Given the description of an element on the screen output the (x, y) to click on. 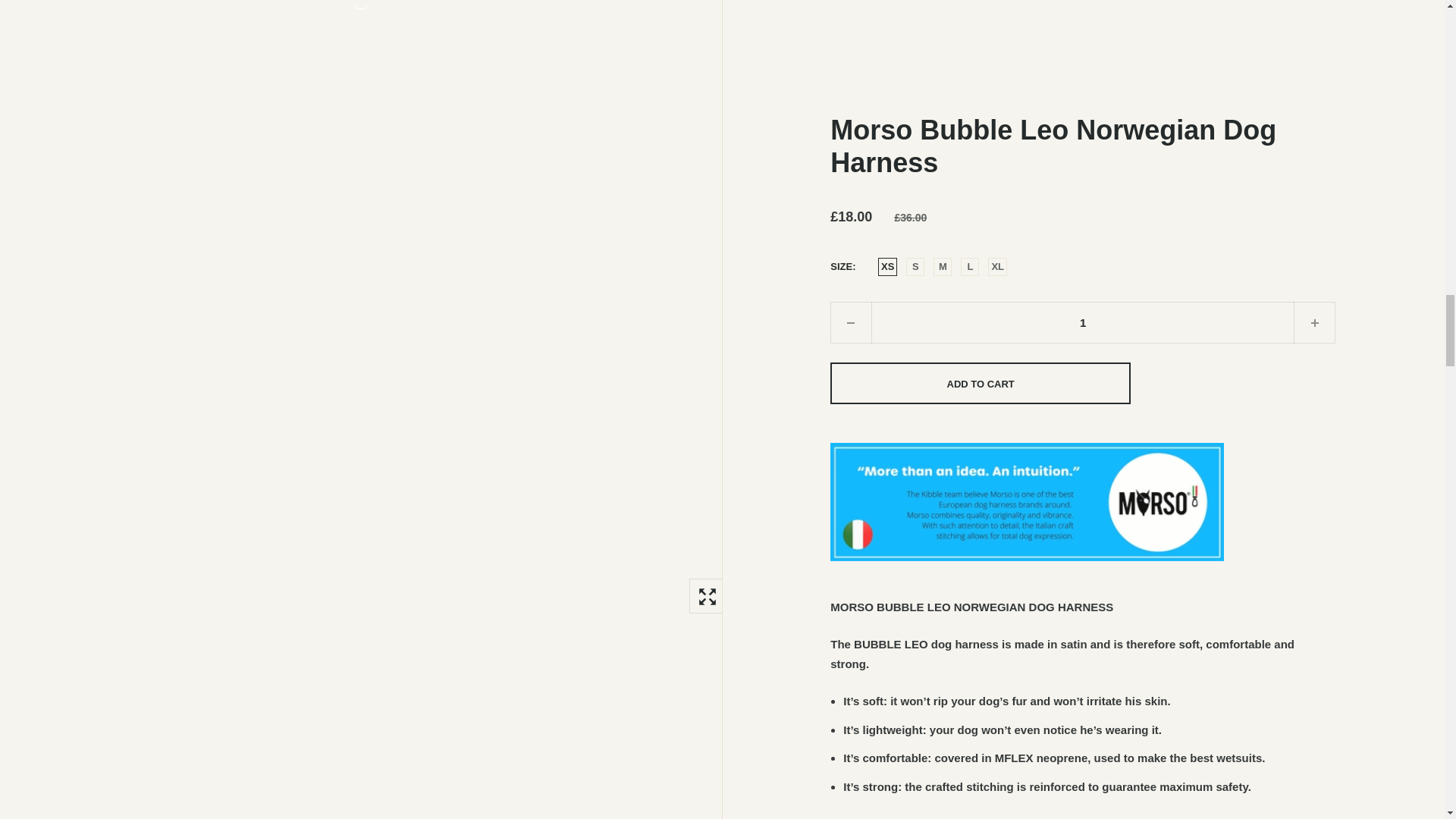
Zoom in (705, 595)
